Given the description of an element on the screen output the (x, y) to click on. 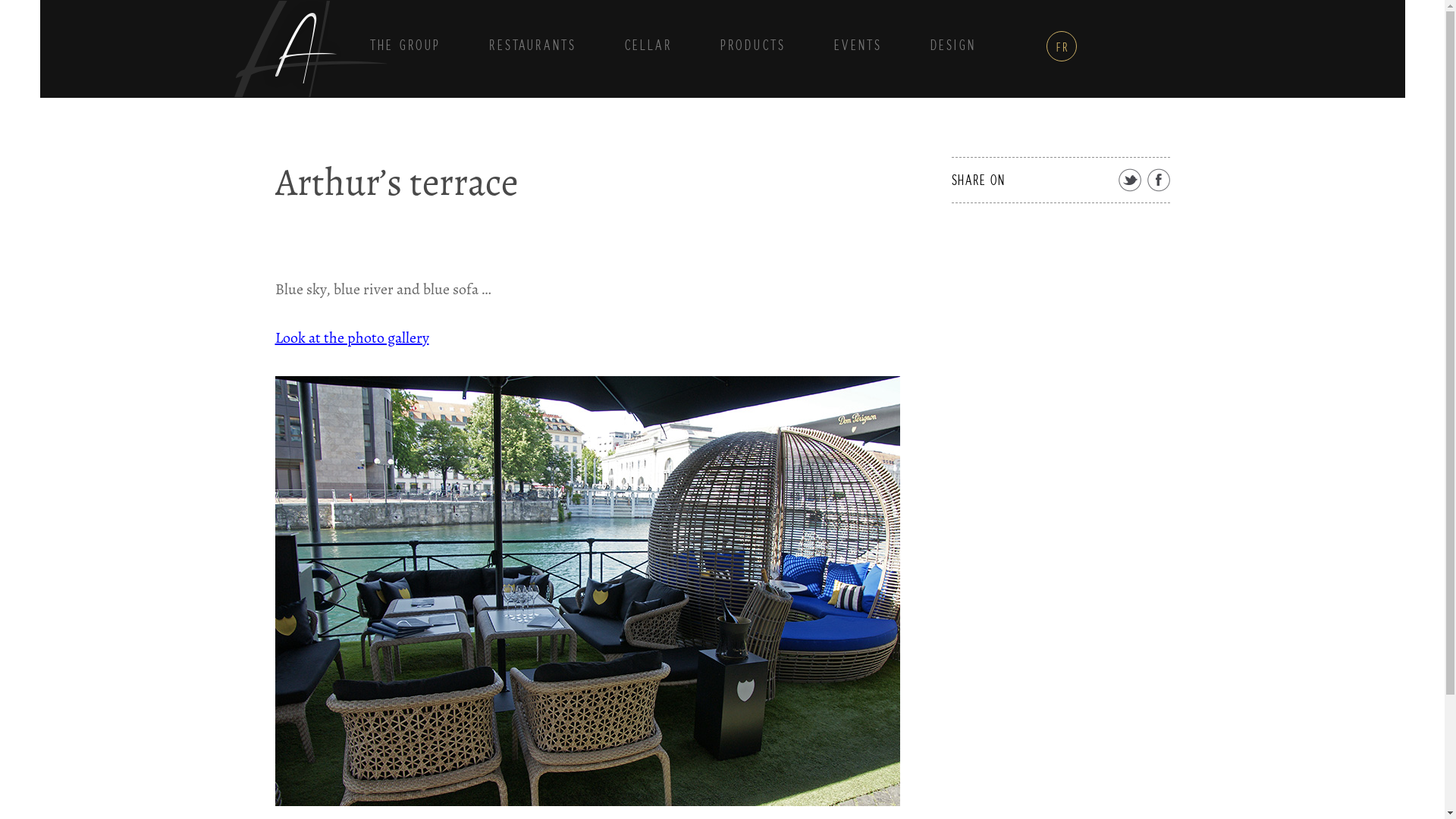
FR Element type: text (1061, 46)
EVENTS Element type: text (857, 46)
CELLAR Element type: text (648, 46)
THE GROUP Element type: text (404, 46)
Look at the photo gallery Element type: text (351, 338)
RESTAURANTS Element type: text (531, 46)
DESIGN Element type: text (952, 46)
PRODUCTS Element type: text (752, 46)
